Given the description of an element on the screen output the (x, y) to click on. 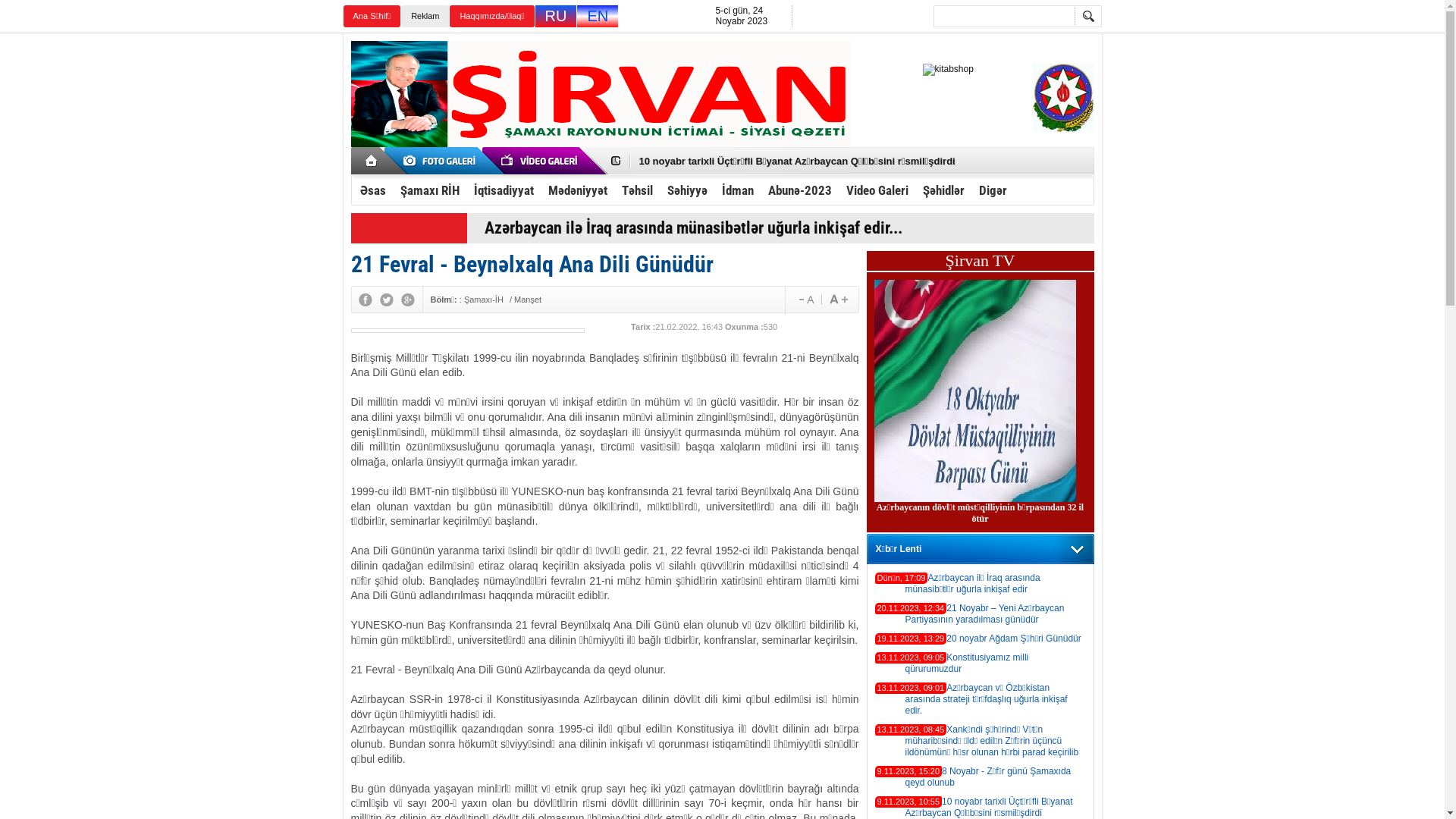
Twitter Element type: hover (385, 299)
ELANLAR Element type: hover (441, 160)
Facebook Element type: hover (364, 299)
Google+ Element type: hover (407, 299)
Video Galeri Element type: text (876, 190)
EN Element type: text (597, 16)
RU Element type: text (556, 16)
Reklam Element type: text (424, 16)
